Given the description of an element on the screen output the (x, y) to click on. 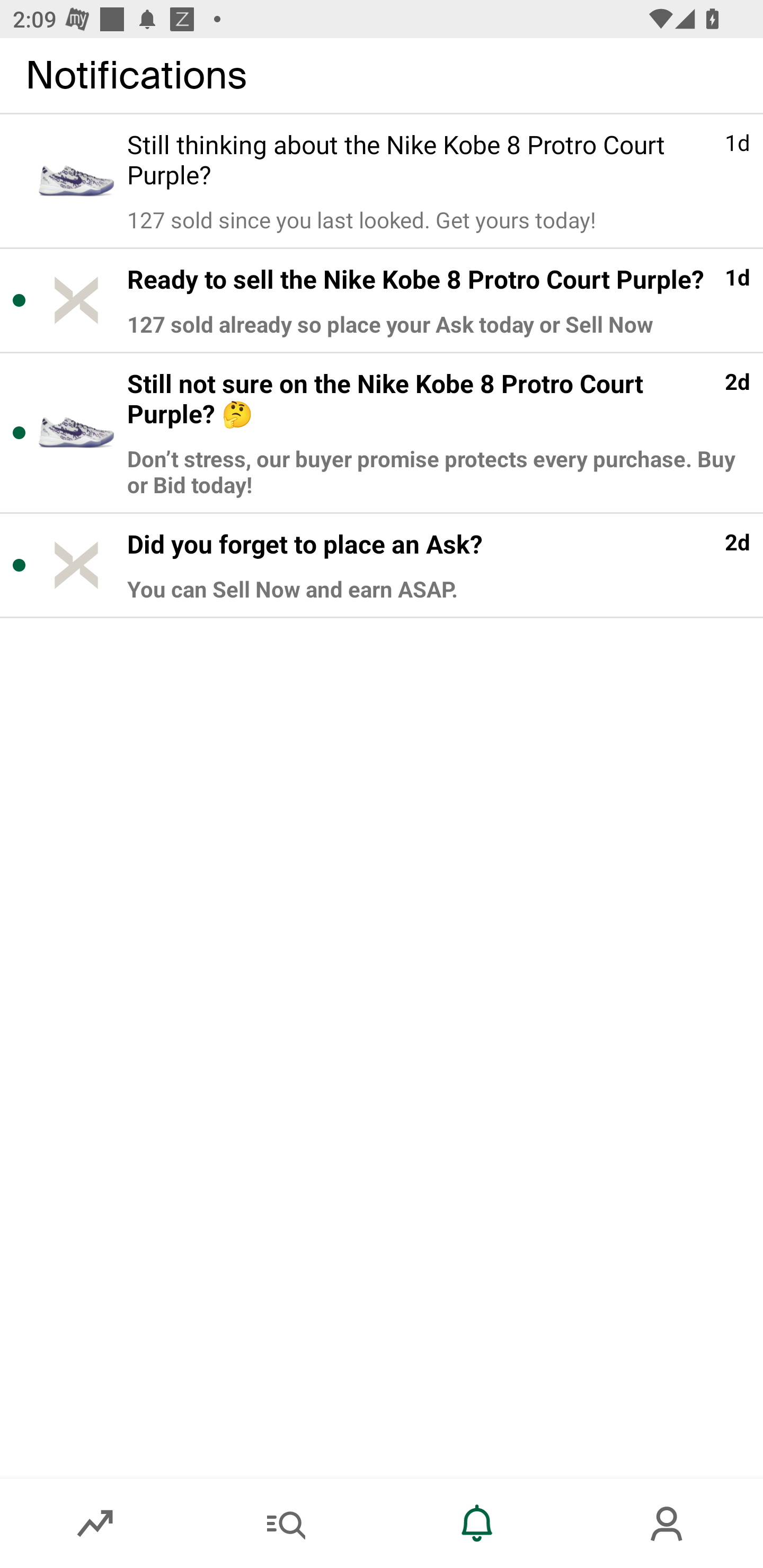
Market (95, 1523)
Search (285, 1523)
Account (667, 1523)
